Given the description of an element on the screen output the (x, y) to click on. 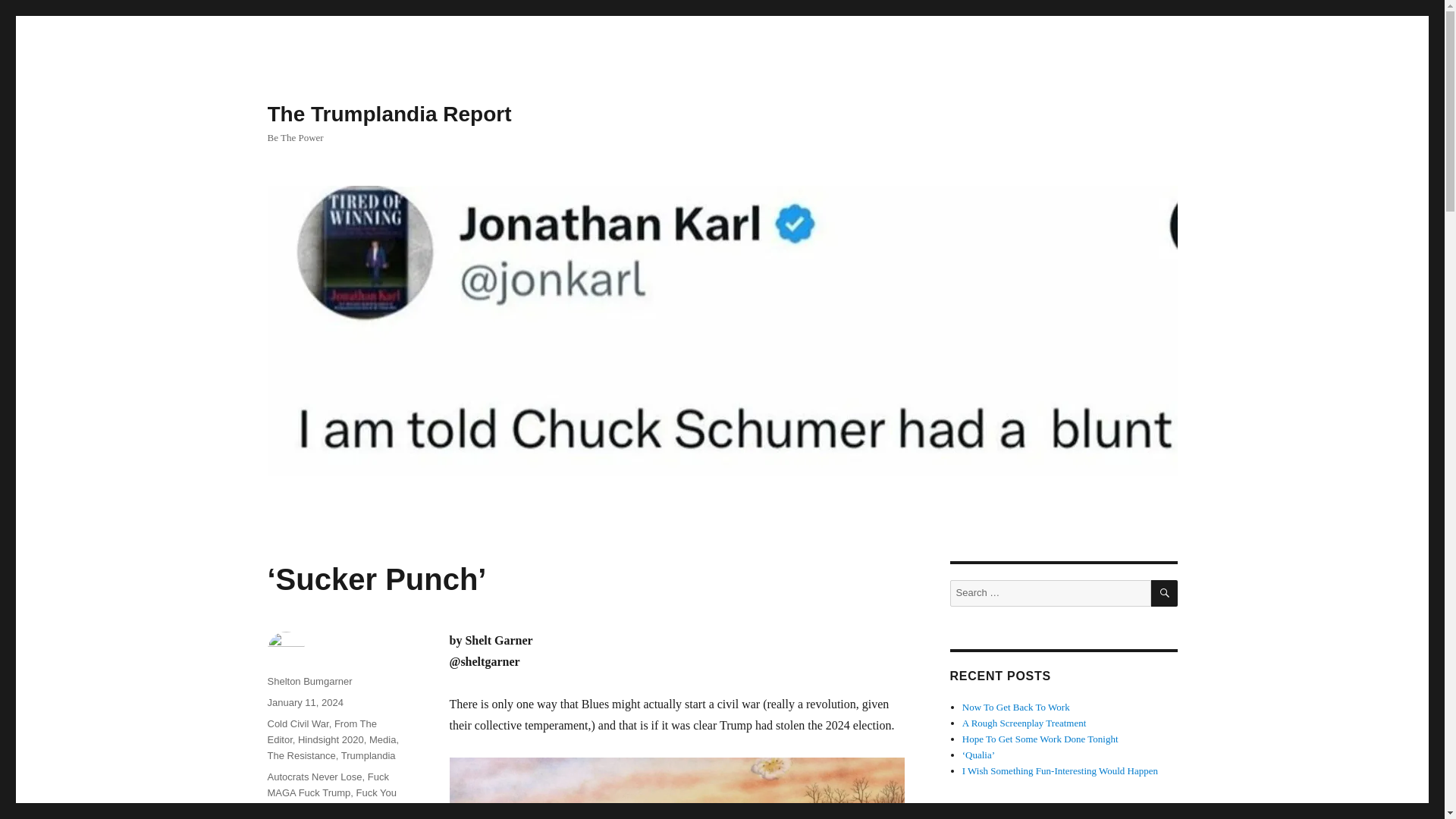
The Resistance (300, 755)
Fuck You MAGA (331, 800)
Shelton Bumgarner (309, 681)
From The Editor (321, 731)
Autocrats Never Lose (313, 776)
Now To Get Back To Work (1016, 706)
SEARCH (1164, 592)
Trumplandia (368, 755)
Glorious American Revolution Of 2024-2025 (323, 811)
Fuck MAGA Fuck Trump (327, 784)
